Given the description of an element on the screen output the (x, y) to click on. 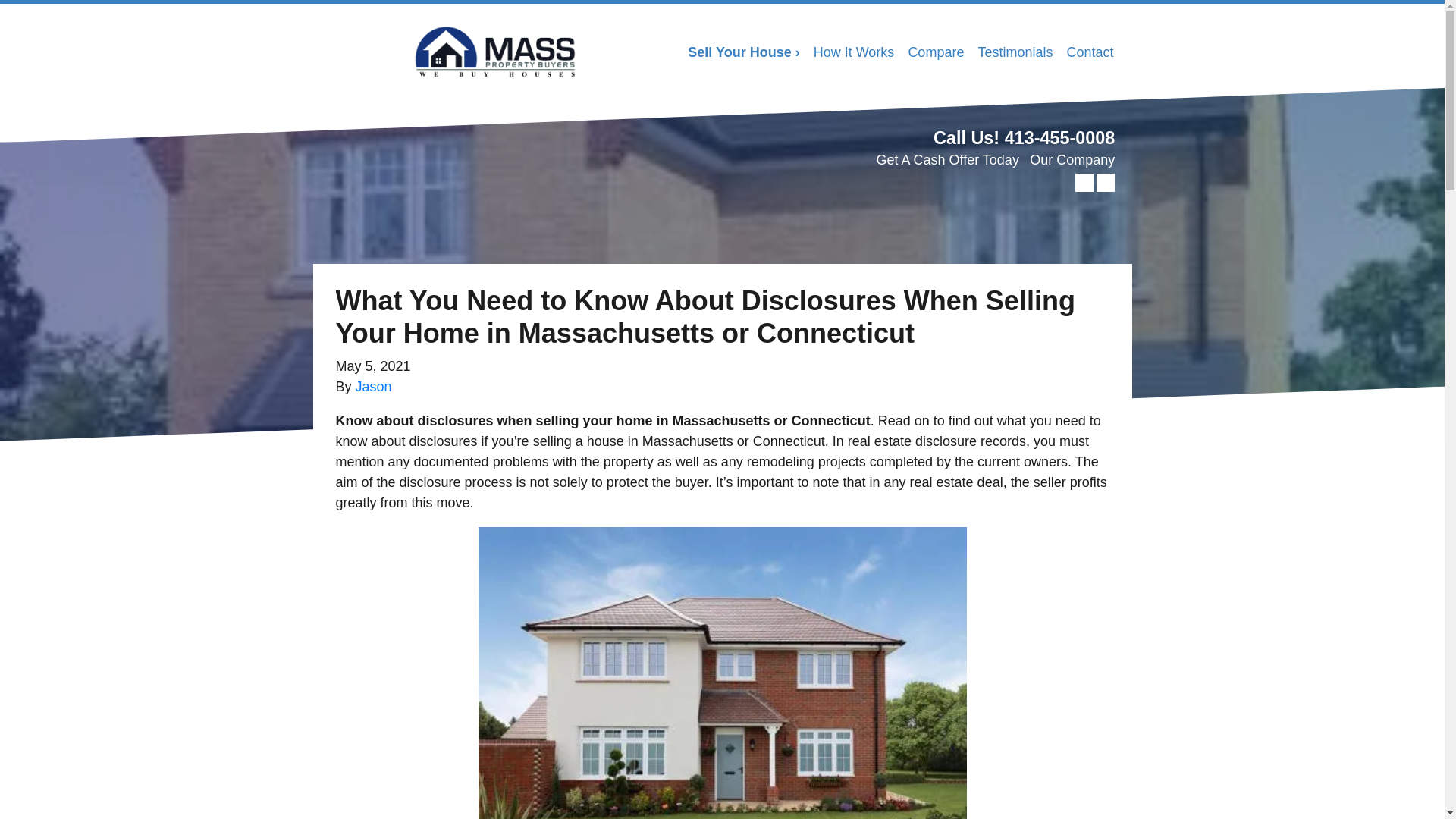
Compare (936, 52)
Testimonials (1015, 52)
How It Works (853, 52)
Testimonials (1015, 52)
Our Company (1072, 159)
Facebook (1105, 182)
Contact (1089, 52)
How It Works (853, 52)
Get A Cash Offer Today (946, 159)
Compare (936, 52)
